Given the description of an element on the screen output the (x, y) to click on. 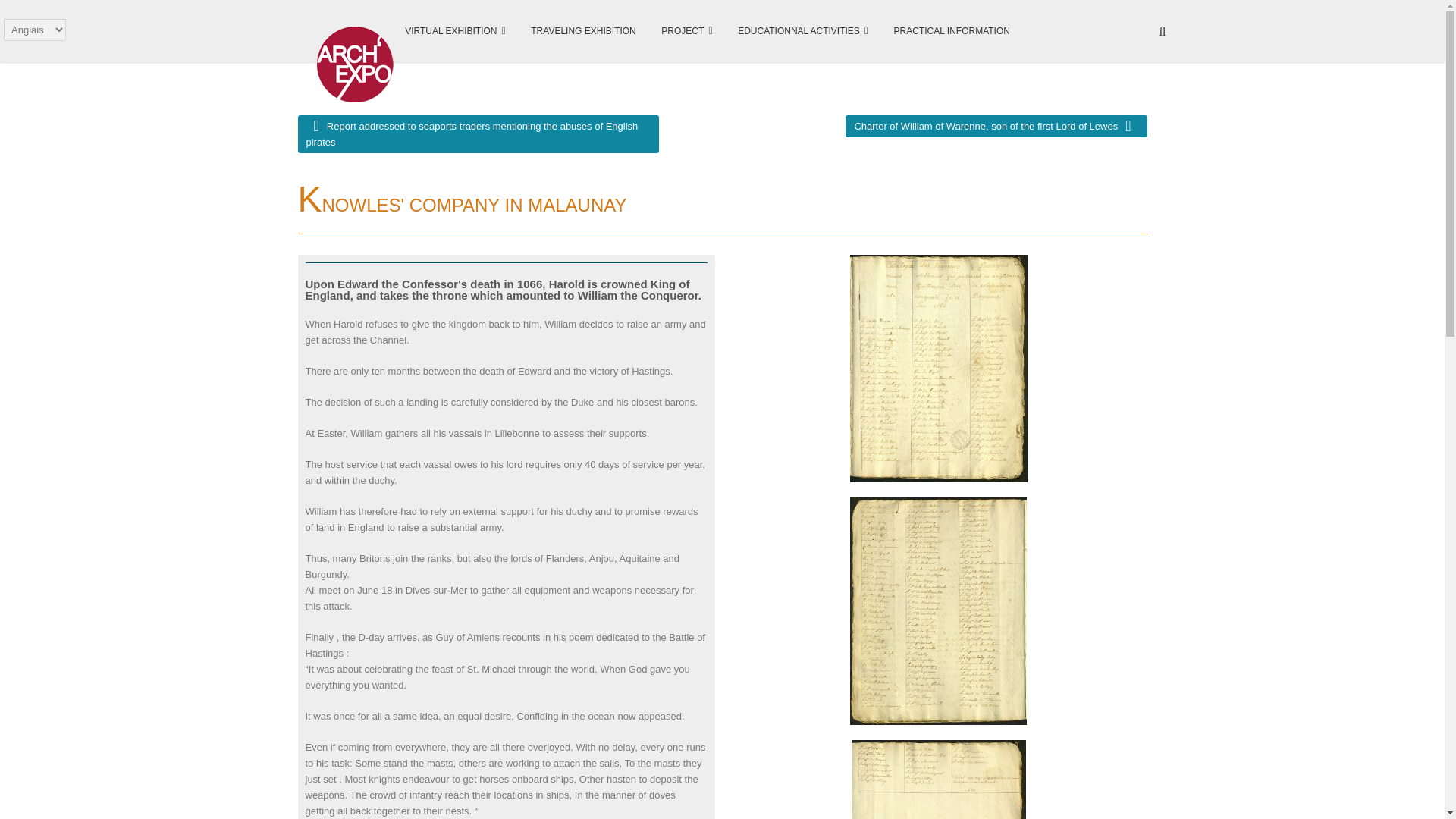
VIRTUAL EXHIBITION (454, 30)
TRAVELING EXHIBITION (582, 31)
PROJECT (686, 30)
EDUCATIONNAL ACTIVITIES (802, 30)
PRACTICAL INFORMATION (952, 31)
